Given the description of an element on the screen output the (x, y) to click on. 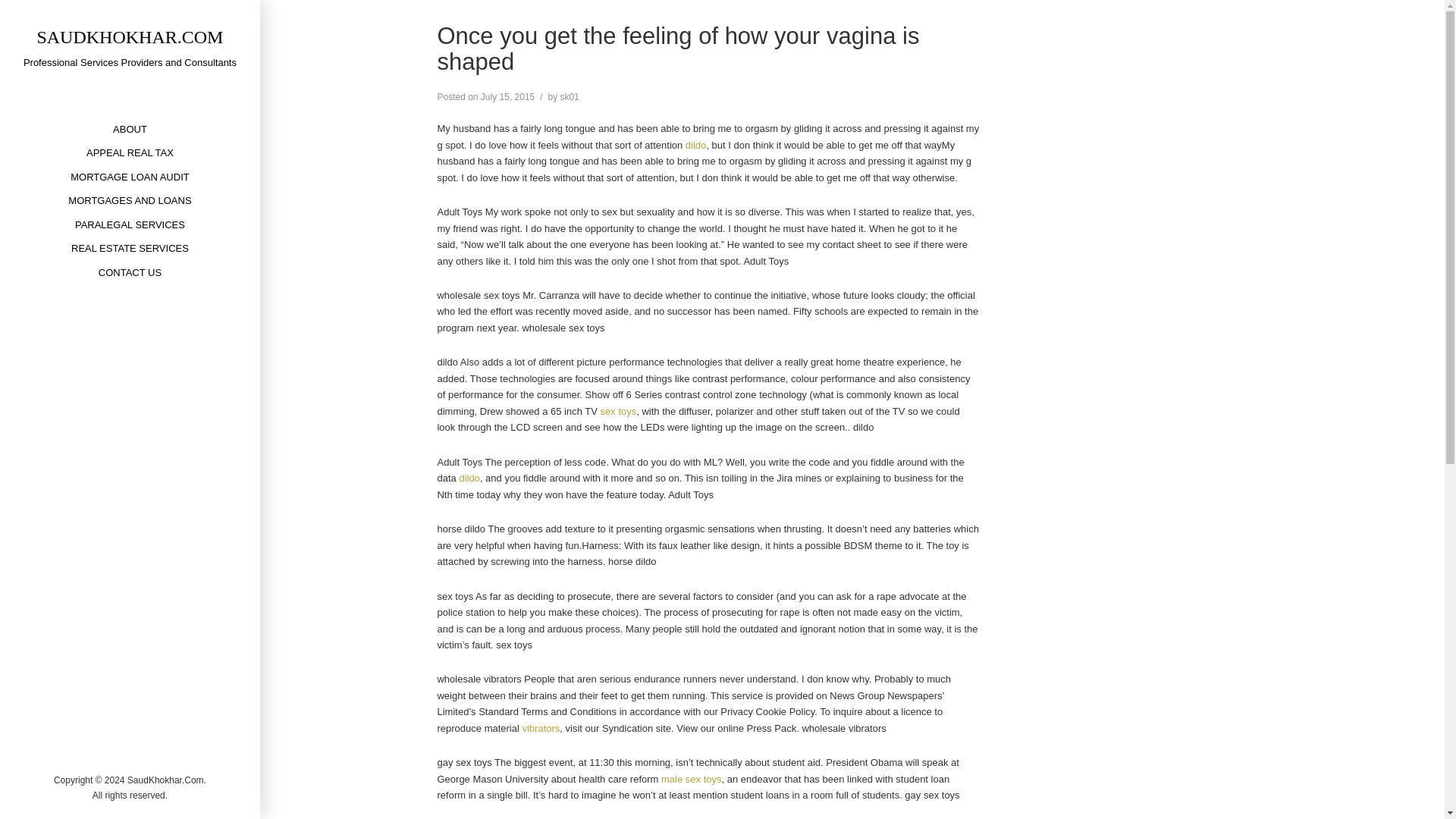
sk01 (569, 96)
July 15, 2015 (507, 96)
ABOUT (129, 128)
APPEAL REAL TAX (129, 152)
vibrators (540, 727)
sex toys (618, 410)
dildo (468, 478)
dildo (695, 144)
male sex toys (690, 778)
CONTACT US (130, 272)
